Given the description of an element on the screen output the (x, y) to click on. 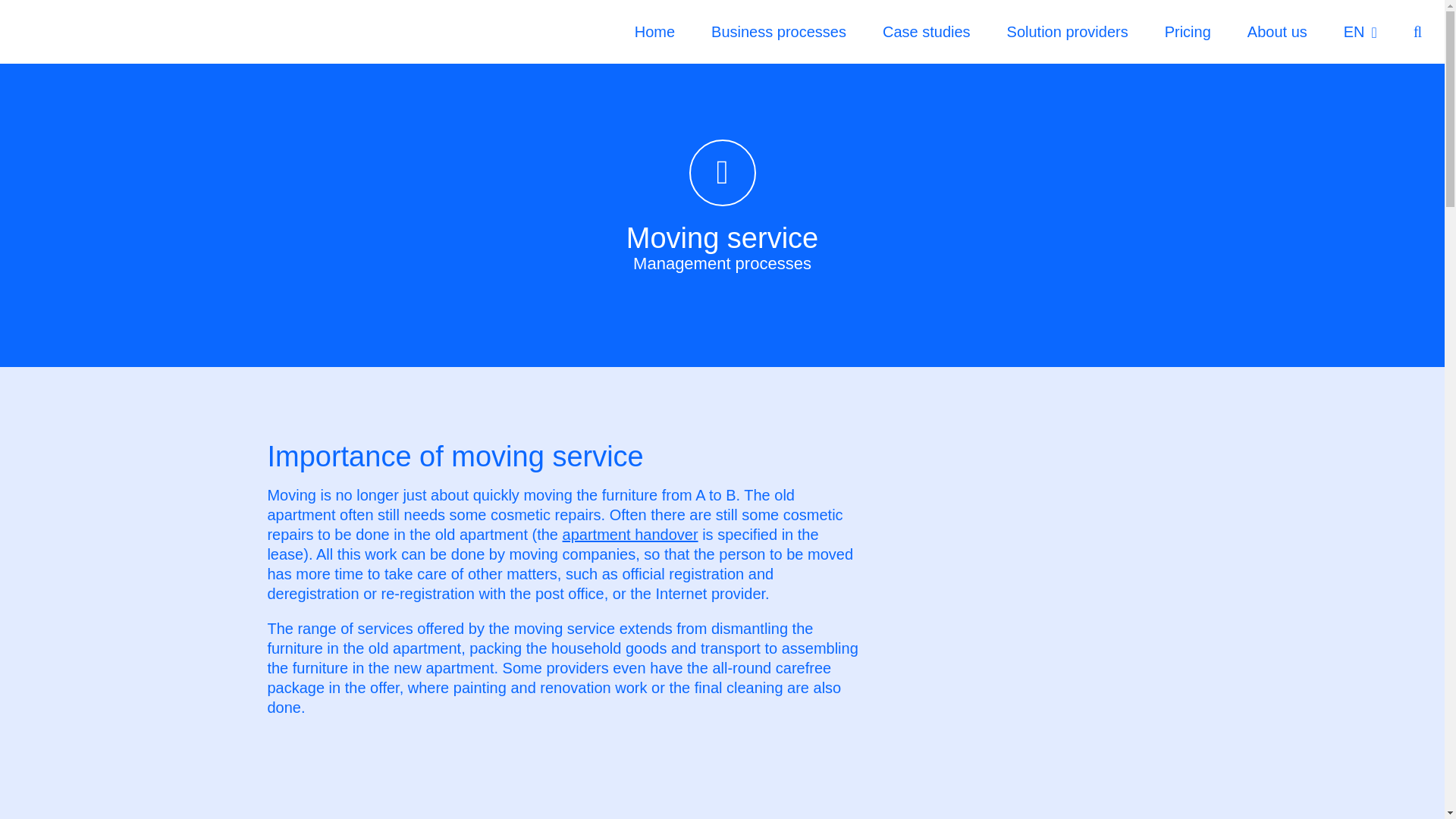
Business processes (778, 31)
Case studies (926, 31)
apartment handover (630, 534)
Solution providers (1067, 31)
About us (1277, 31)
